Given the description of an element on the screen output the (x, y) to click on. 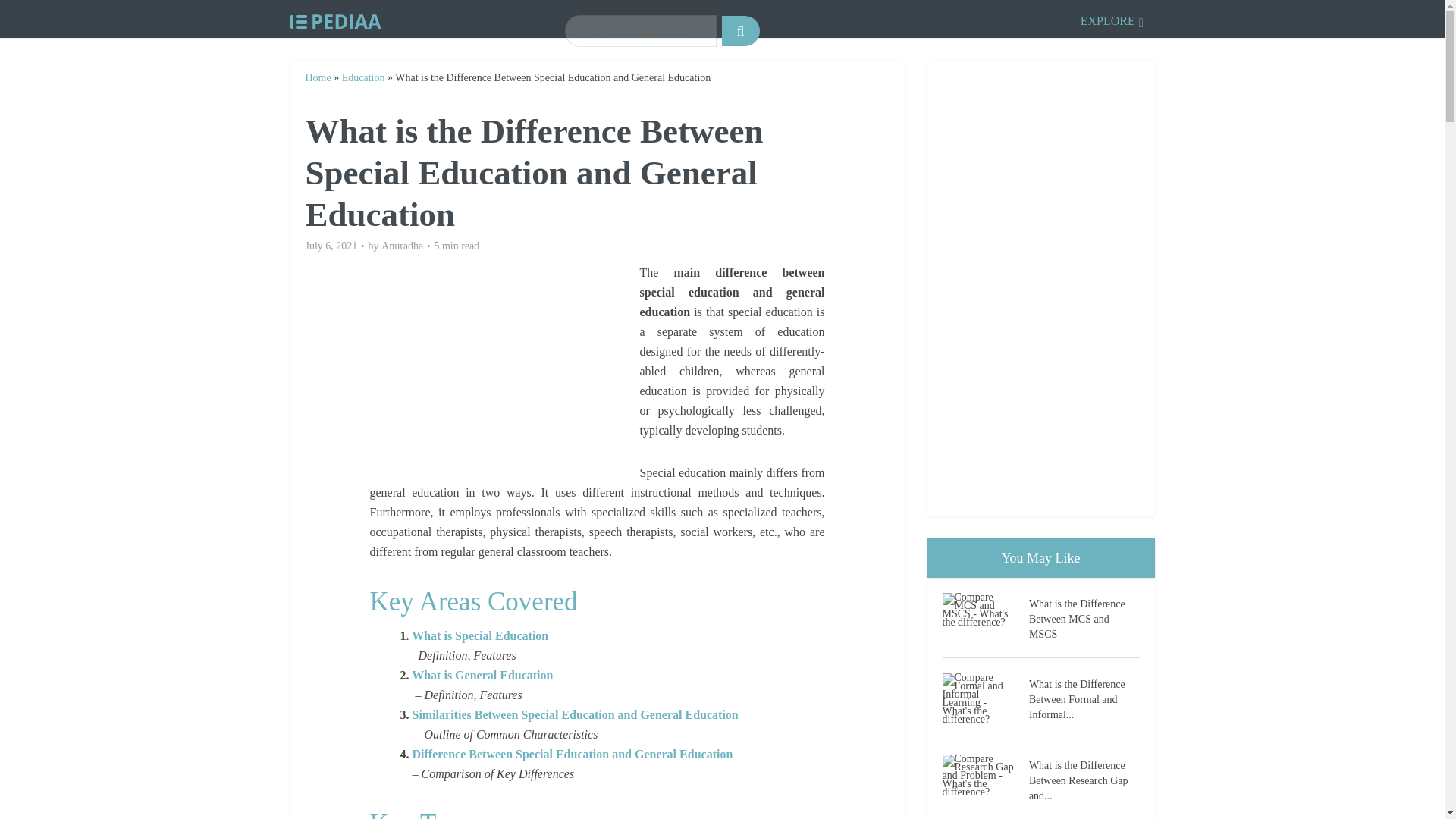
What is the Difference Between MCS and MSCS (984, 609)
Type here to search... (640, 30)
Home (317, 77)
What is the Difference Between MCS and MSCS (1084, 617)
Pediaa.Com (334, 18)
Difference Between Special Education and General Education (572, 753)
Education (363, 77)
Similarities Between Special Education and General Education (575, 714)
Anuradha (402, 246)
